Given the description of an element on the screen output the (x, y) to click on. 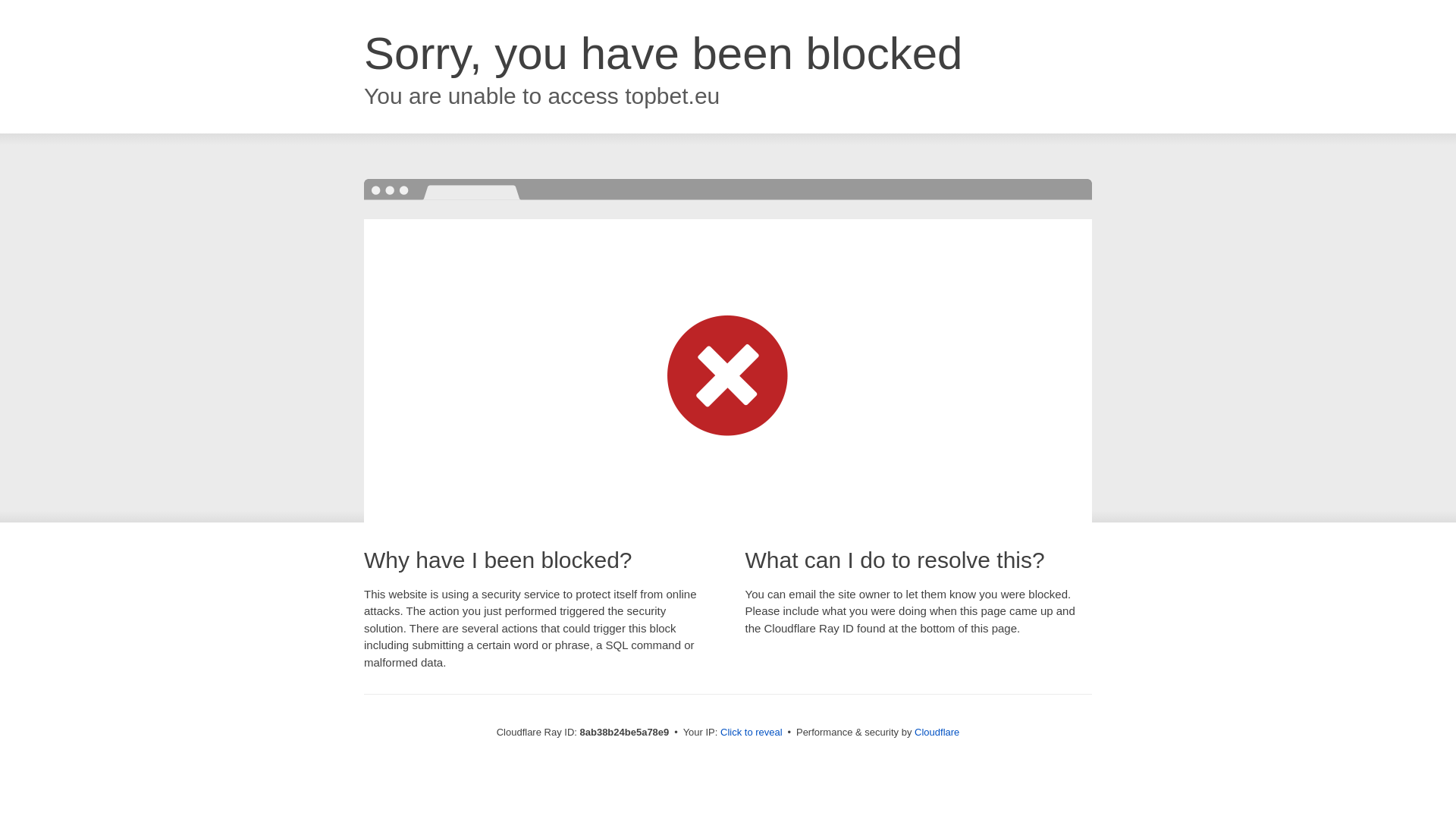
Cloudflare (936, 731)
Click to reveal (751, 732)
